Given the description of an element on the screen output the (x, y) to click on. 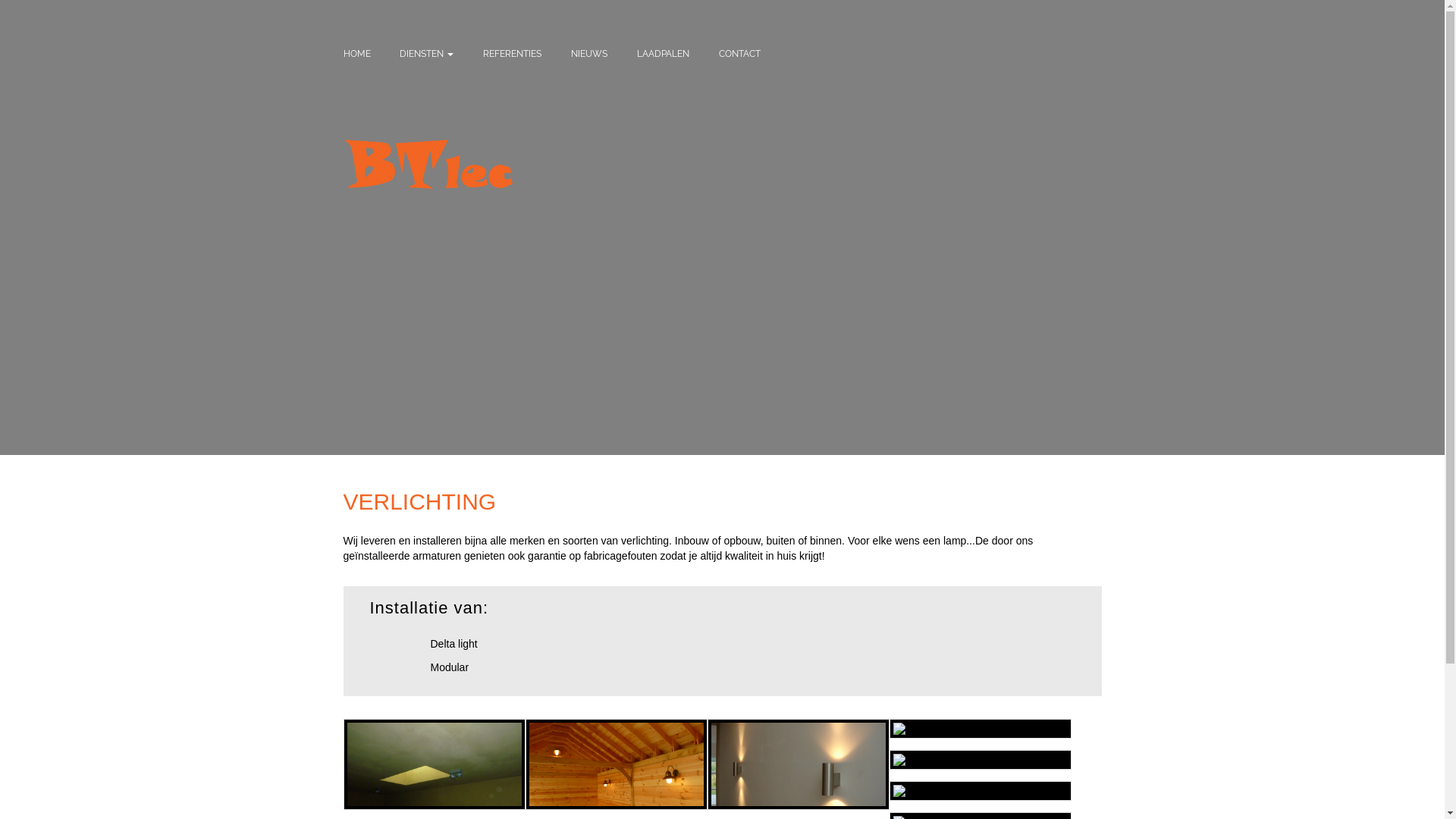
LAADPALEN Element type: text (663, 53)
Modular Element type: text (450, 667)
CONTACT Element type: text (739, 53)
Delta light Element type: text (454, 643)
REFERENTIES Element type: text (512, 53)
DIENSTEN Element type: text (426, 53)
HOME Element type: text (356, 53)
NIEUWS Element type: text (589, 53)
